Given the description of an element on the screen output the (x, y) to click on. 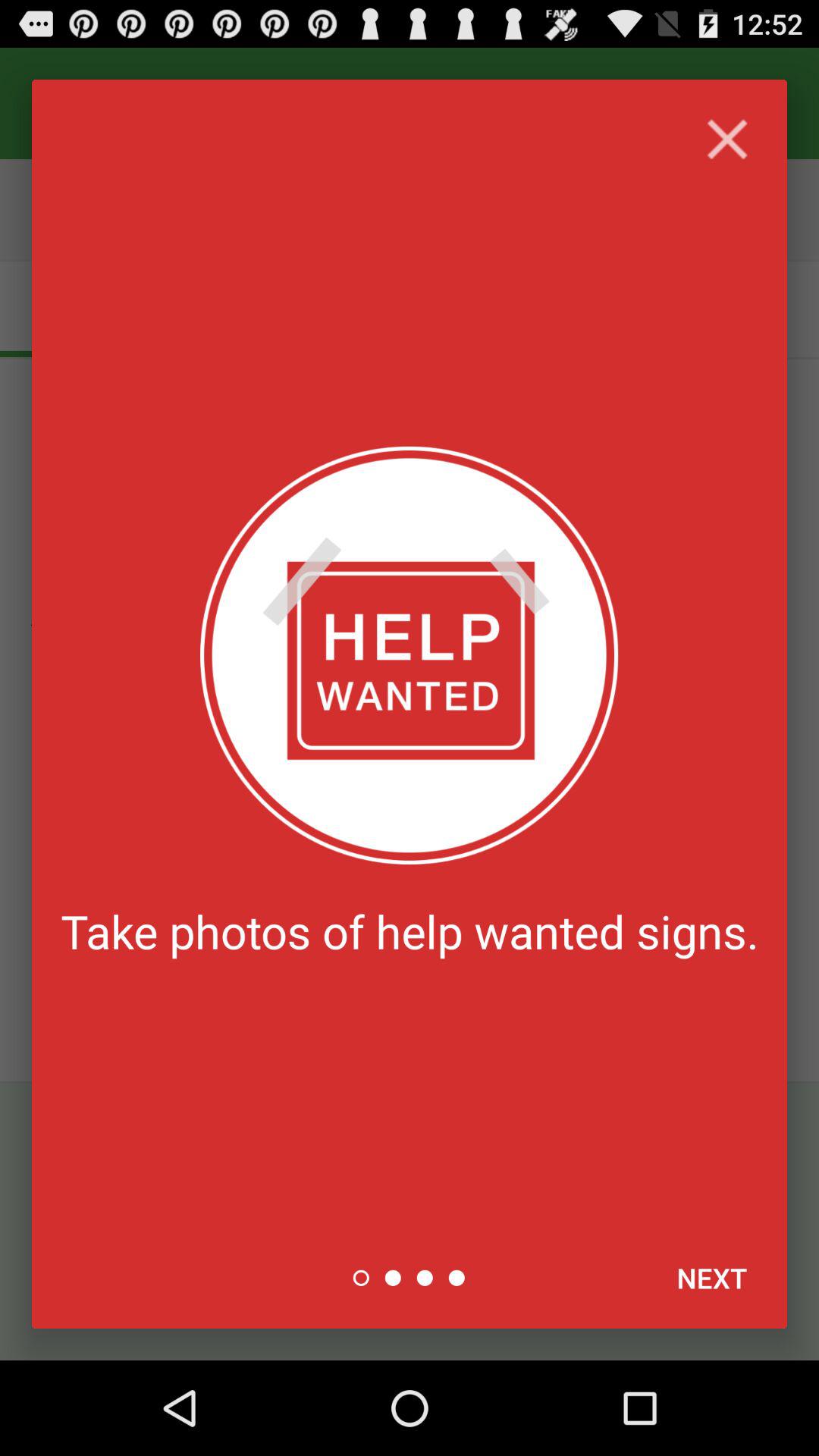
close the screen (727, 139)
